Given the description of an element on the screen output the (x, y) to click on. 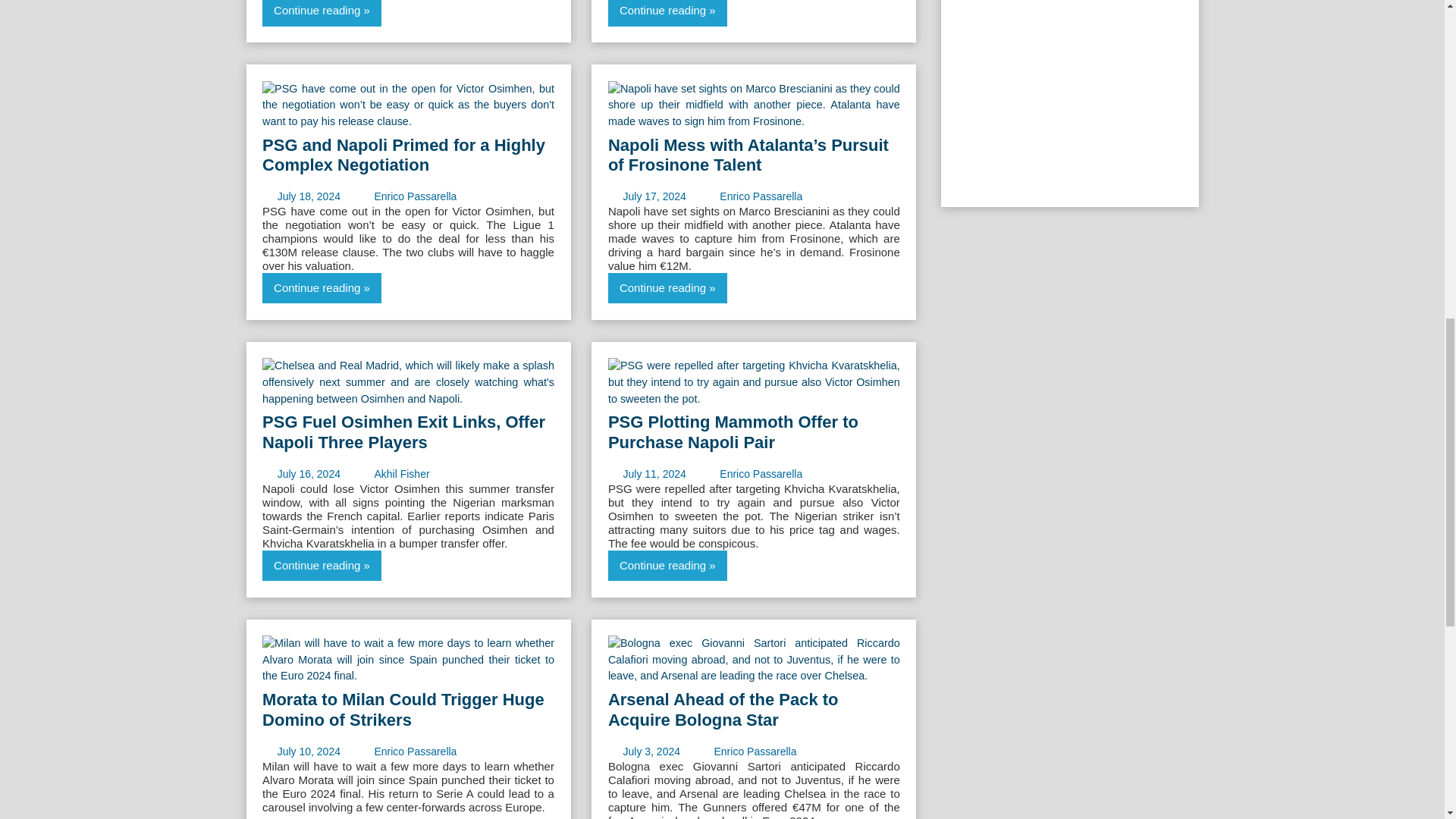
6:30 am (309, 473)
View all posts by Akhil Fisher (401, 473)
2:30 pm (309, 196)
View all posts by Enrico Passarella (760, 196)
View all posts by Enrico Passarella (415, 196)
12:30 pm (654, 196)
4:00 pm (654, 473)
